Given the description of an element on the screen output the (x, y) to click on. 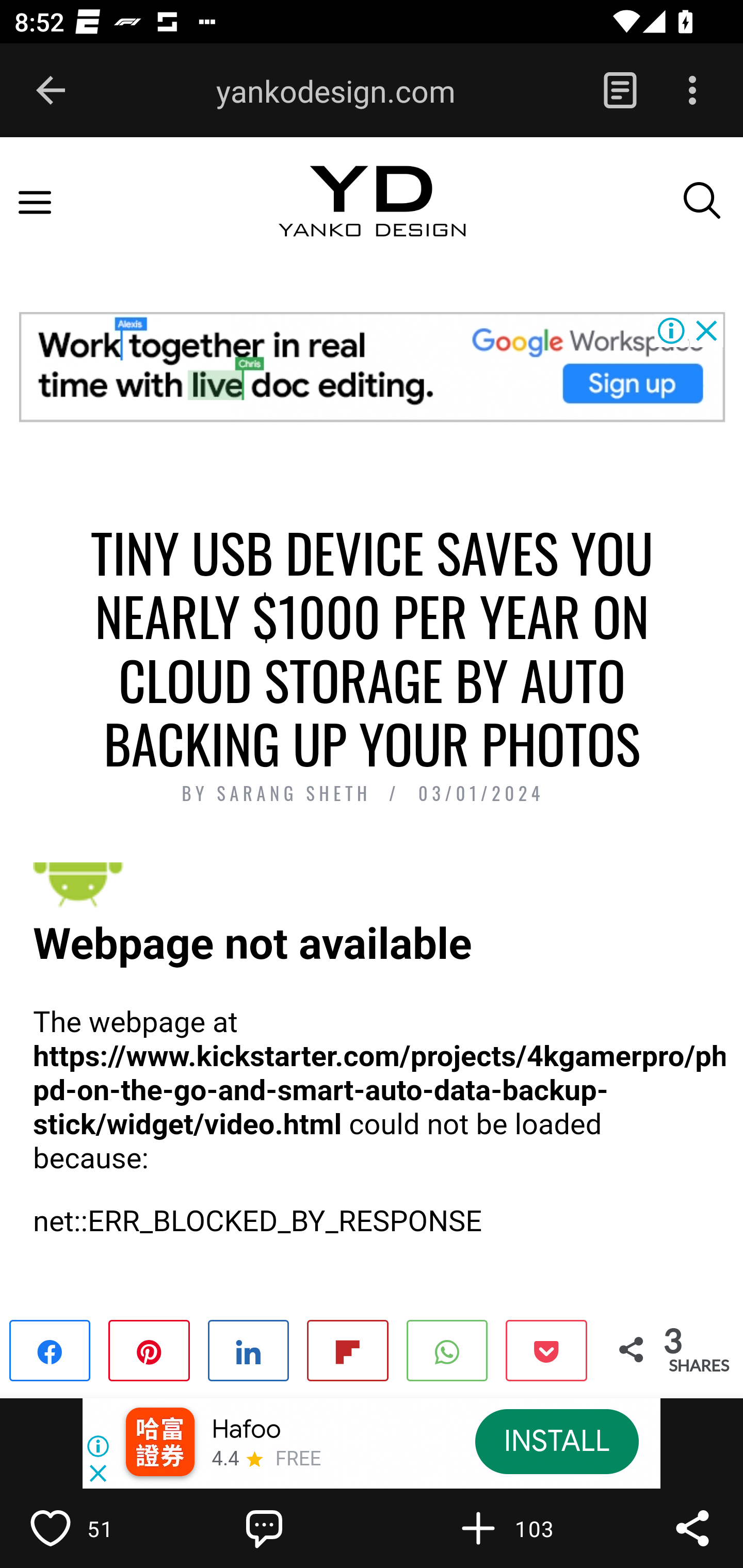
Back (50, 90)
Reader View (619, 90)
Options (692, 90)
Yanko Design - Modern Industrial Design News (371, 218)
Advertisement (371, 366)
SARANG SHETH (298, 794)
k Share k Share (50, 1348)
A Pin A Pin (148, 1348)
s Share s Share (249, 1348)
m Flip m Flip (346, 1348)
T WhatsApp T WhatsApp (447, 1348)
C Pocket C Pocket (545, 1348)
INSTALL (556, 1441)
Hafoo (246, 1429)
4.4 (224, 1459)
FREE (298, 1459)
Like 51 (93, 1528)
Write a comment… (307, 1528)
Flip into Magazine 103 (521, 1528)
Share (692, 1528)
